Given the description of an element on the screen output the (x, y) to click on. 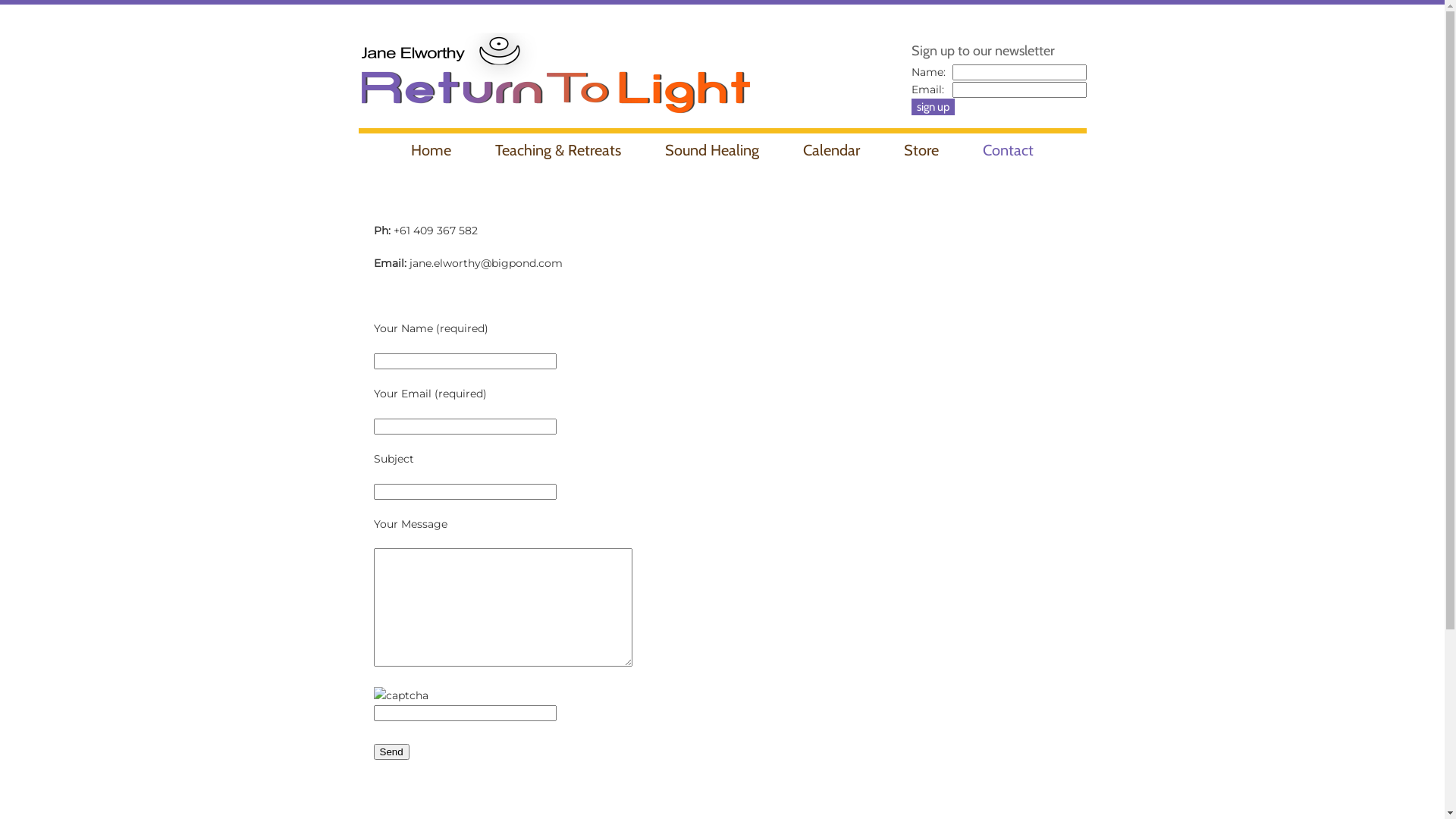
Store Element type: text (920, 149)
Jane Elworthy Return to Light Element type: text (554, 66)
Sound Healing Element type: text (712, 149)
Teaching & Retreats Element type: text (558, 149)
Calendar Element type: text (831, 149)
Contact Element type: text (1007, 149)
Send Element type: text (390, 751)
Home Element type: text (431, 149)
Sign Up Element type: text (932, 106)
